Given the description of an element on the screen output the (x, y) to click on. 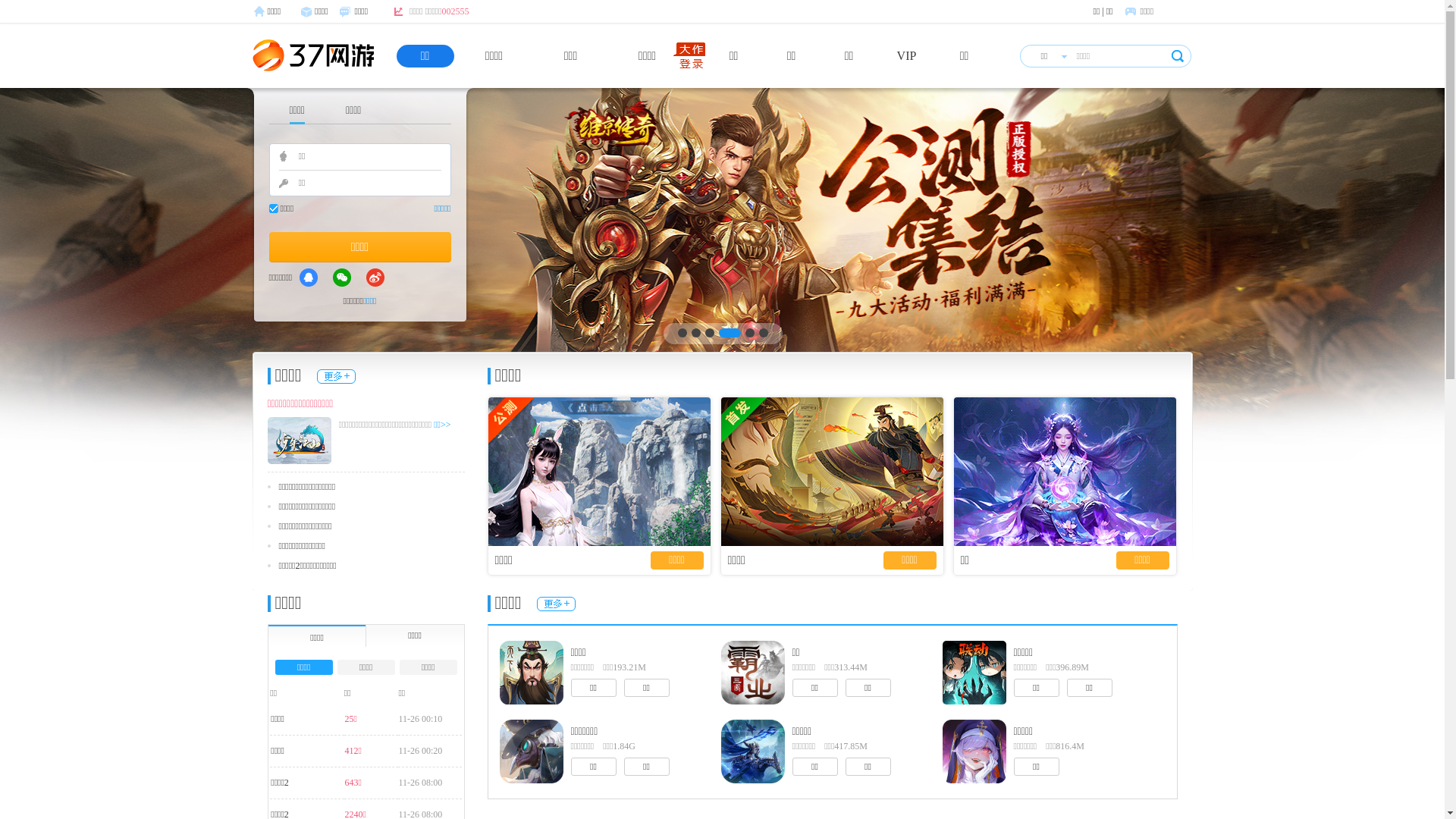
VIP Element type: text (906, 55)
QQ Element type: hover (308, 277)
